Given the description of an element on the screen output the (x, y) to click on. 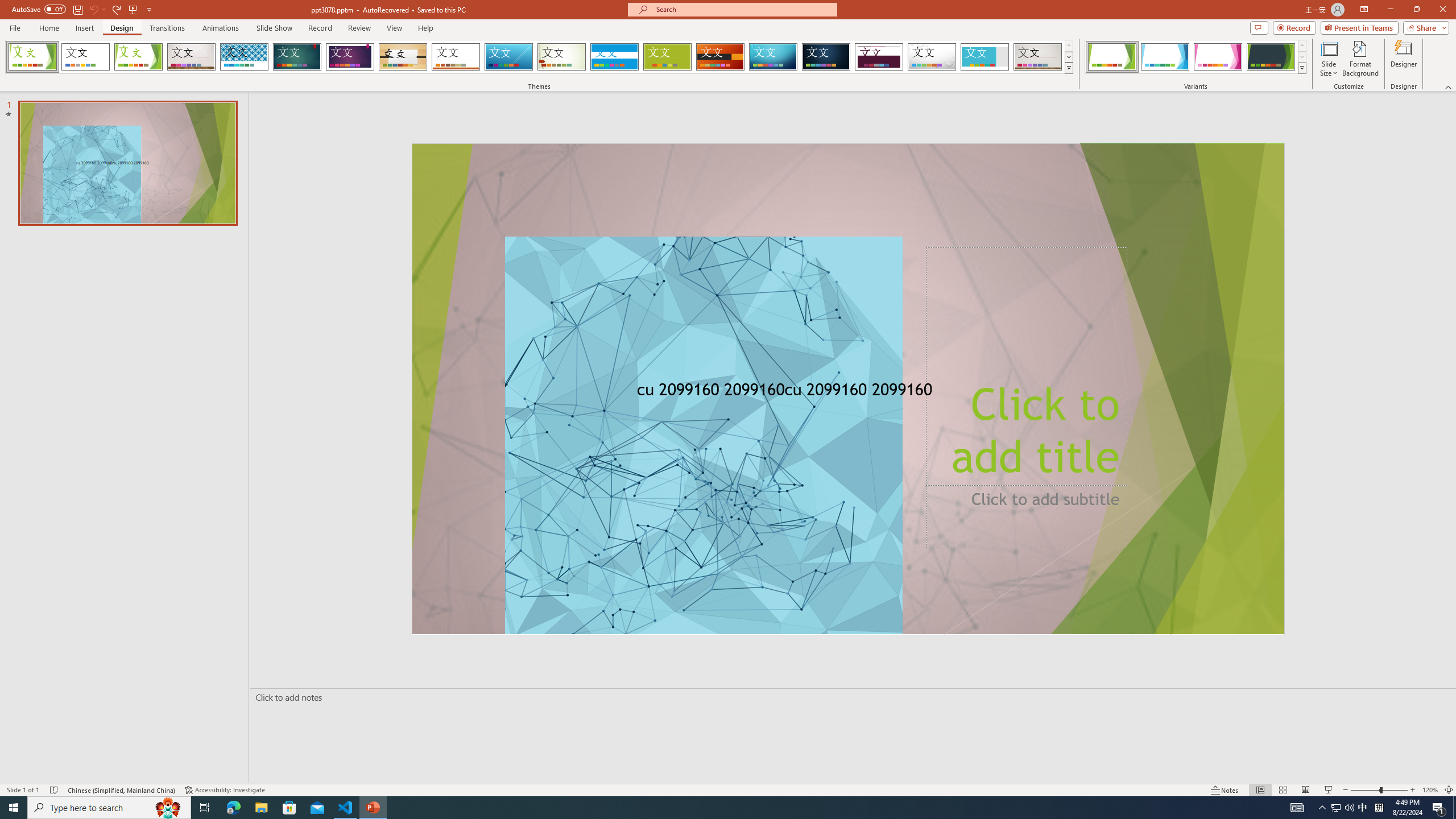
AutomationID: ThemeVariantsGallery (1195, 56)
Berlin Loading Preview... (720, 56)
Gallery Loading Preview... (1037, 56)
Variants (1301, 67)
Dividend Loading Preview... (879, 56)
